Given the description of an element on the screen output the (x, y) to click on. 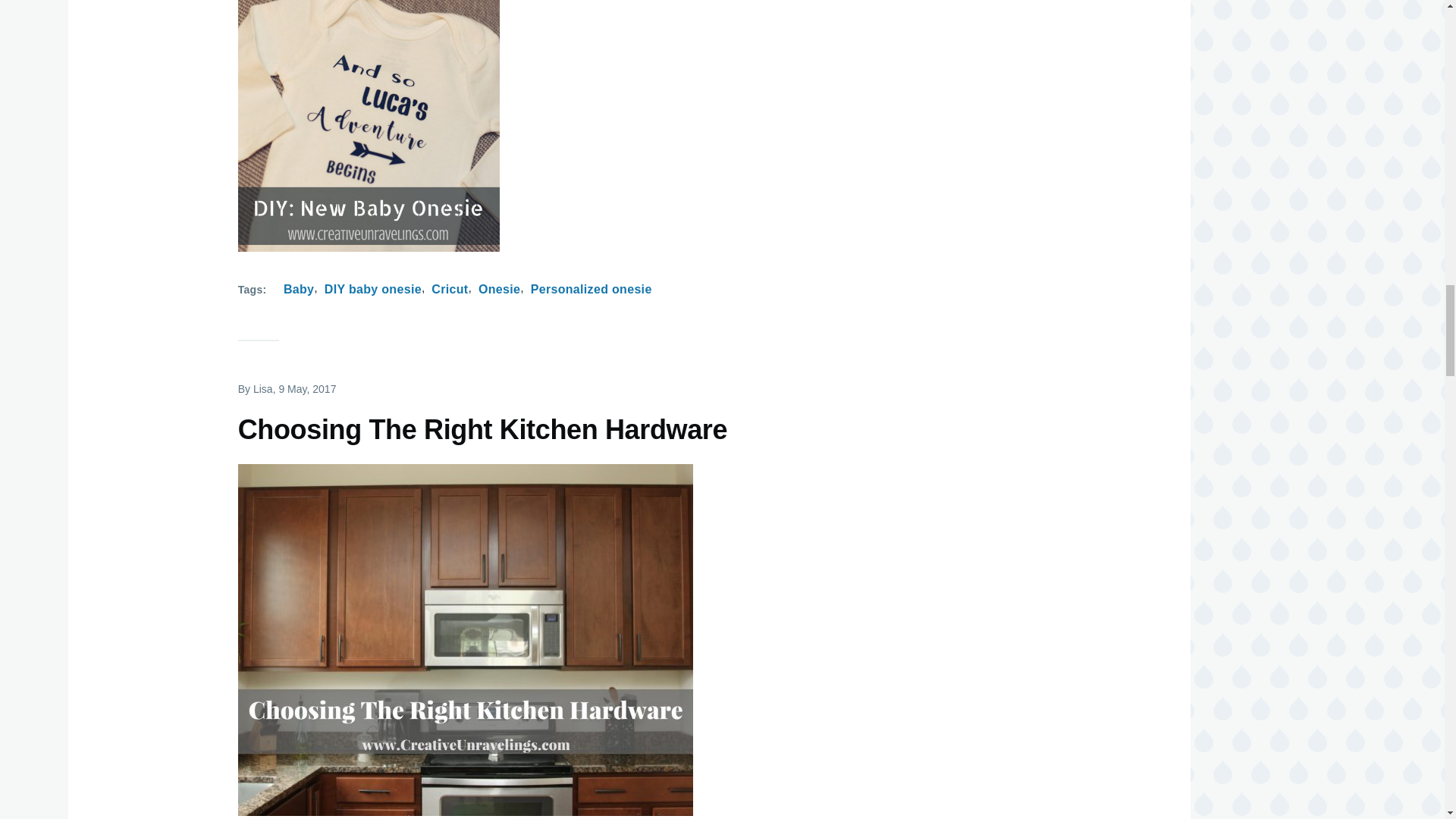
Baby (298, 289)
Cricut (448, 289)
DIY baby onesie (373, 289)
Onesie (499, 289)
Personalized onesie (591, 289)
Choosing The Right Kitchen Hardware (482, 430)
